Given the description of an element on the screen output the (x, y) to click on. 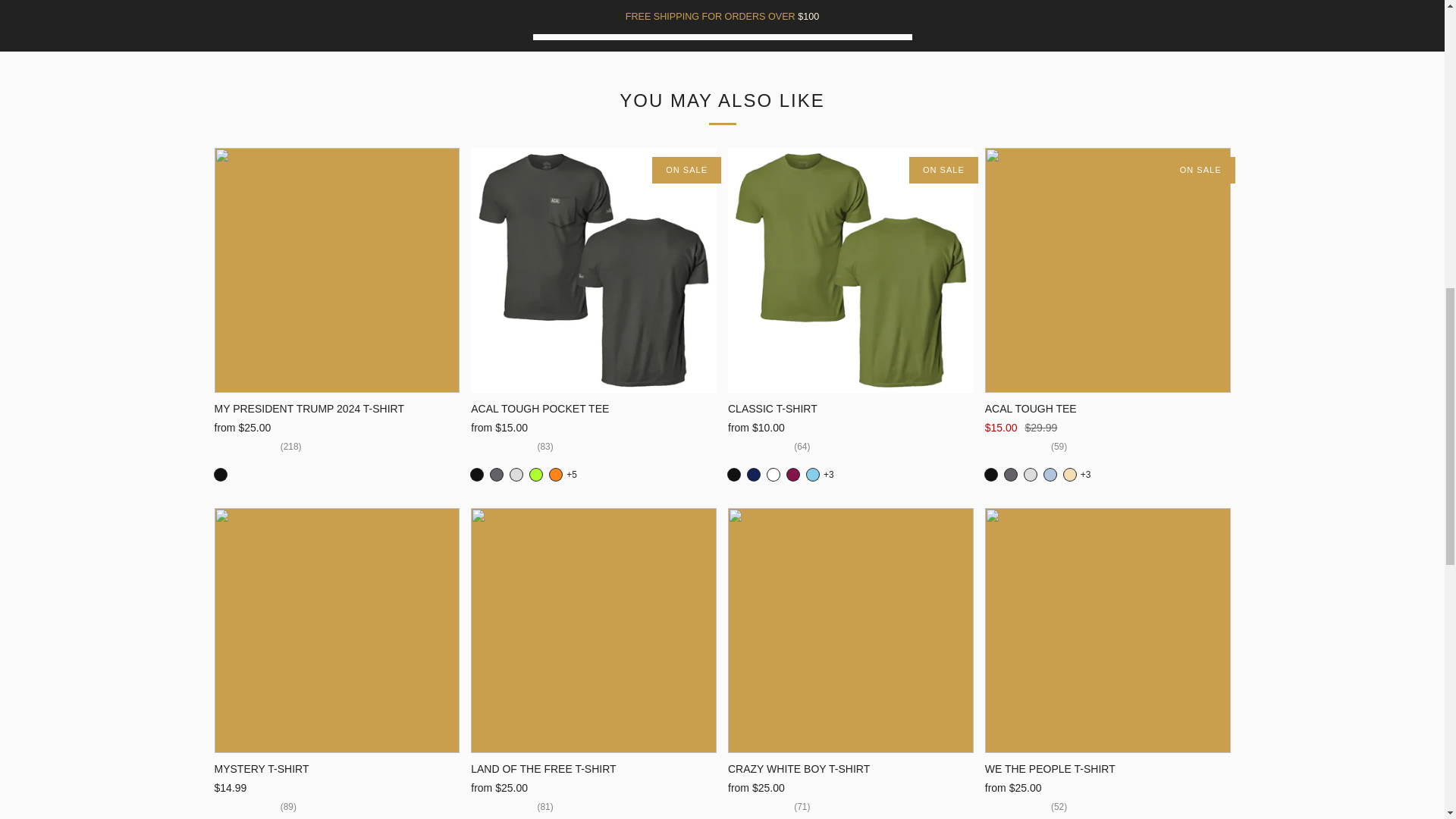
My President Trump 2024 T-Shirt (337, 270)
ACAL TOUGH Pocket Tee (593, 270)
My President Trump 2024 T-Shirt (337, 408)
My President Trump 2024 T-Shirt (337, 438)
